Given the description of an element on the screen output the (x, y) to click on. 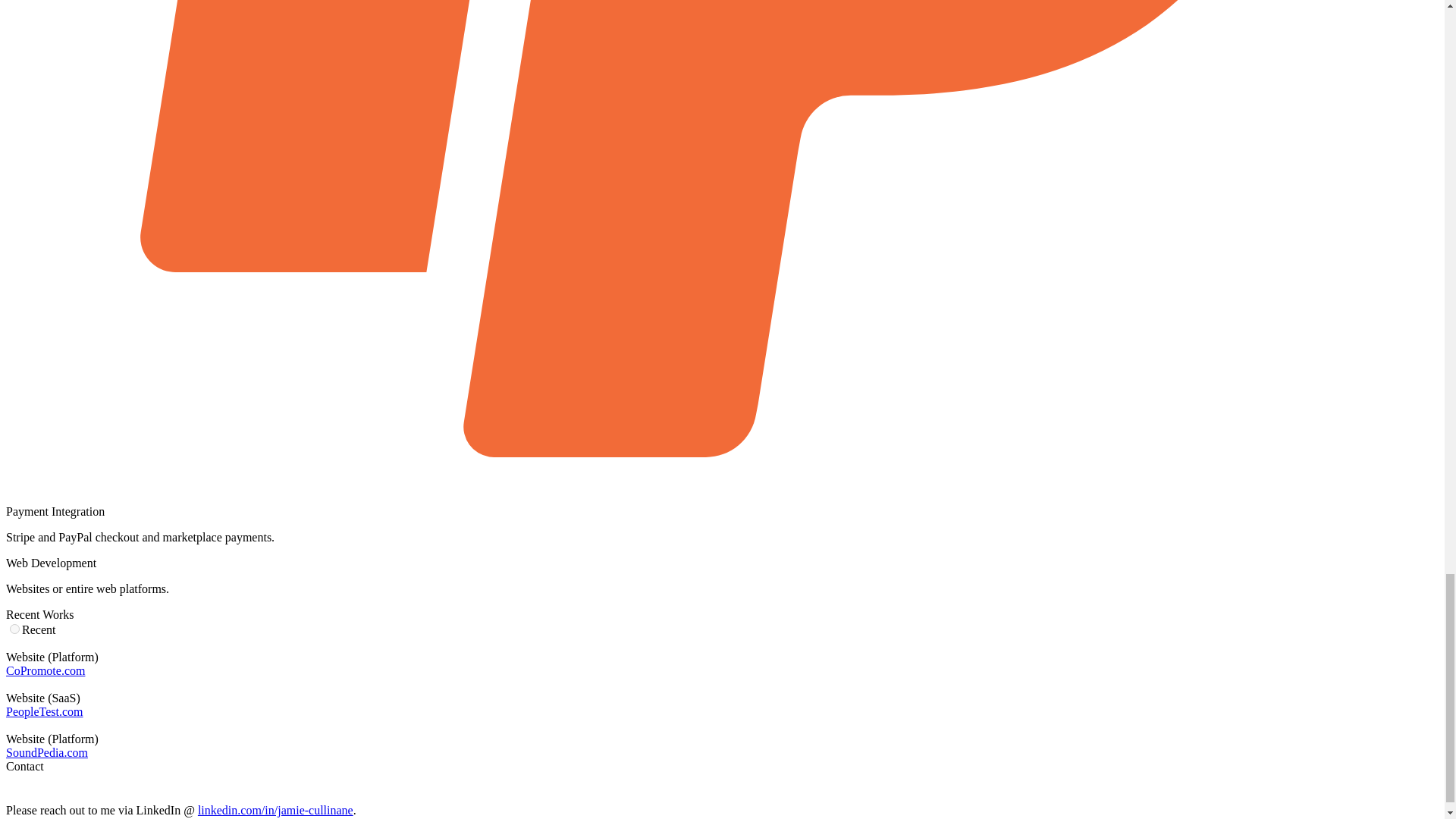
SoundPedia.com (46, 752)
CoPromote.com (44, 670)
.box-item (15, 628)
PeopleTest.com (43, 711)
